Given the description of an element on the screen output the (x, y) to click on. 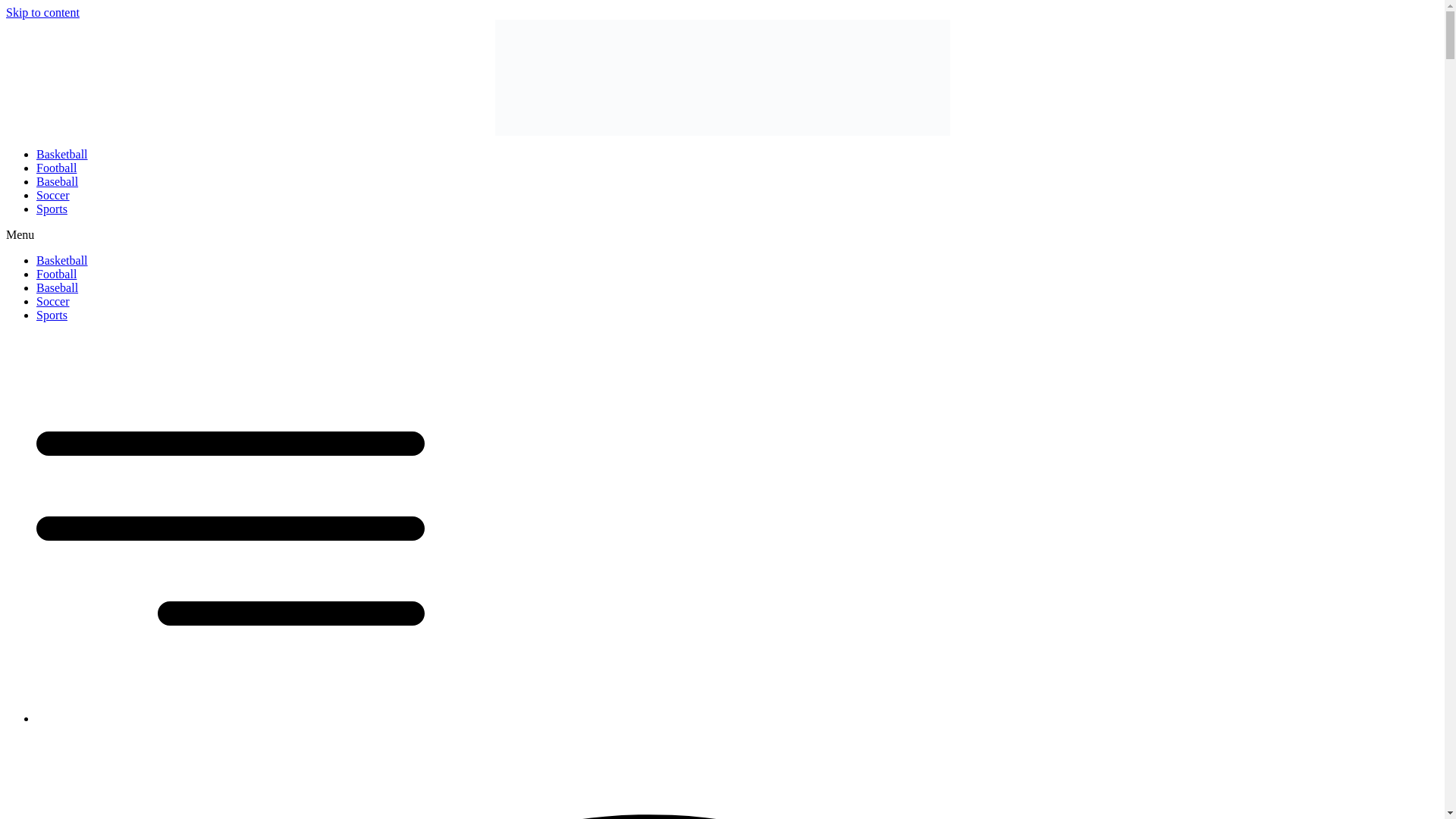
Skip to content (42, 11)
Basketball (61, 154)
Baseball (57, 287)
Sports (51, 208)
Sports (51, 314)
Baseball (57, 181)
Football (56, 167)
Football (56, 273)
Soccer (52, 195)
Basketball (61, 259)
Soccer (52, 300)
